Given the description of an element on the screen output the (x, y) to click on. 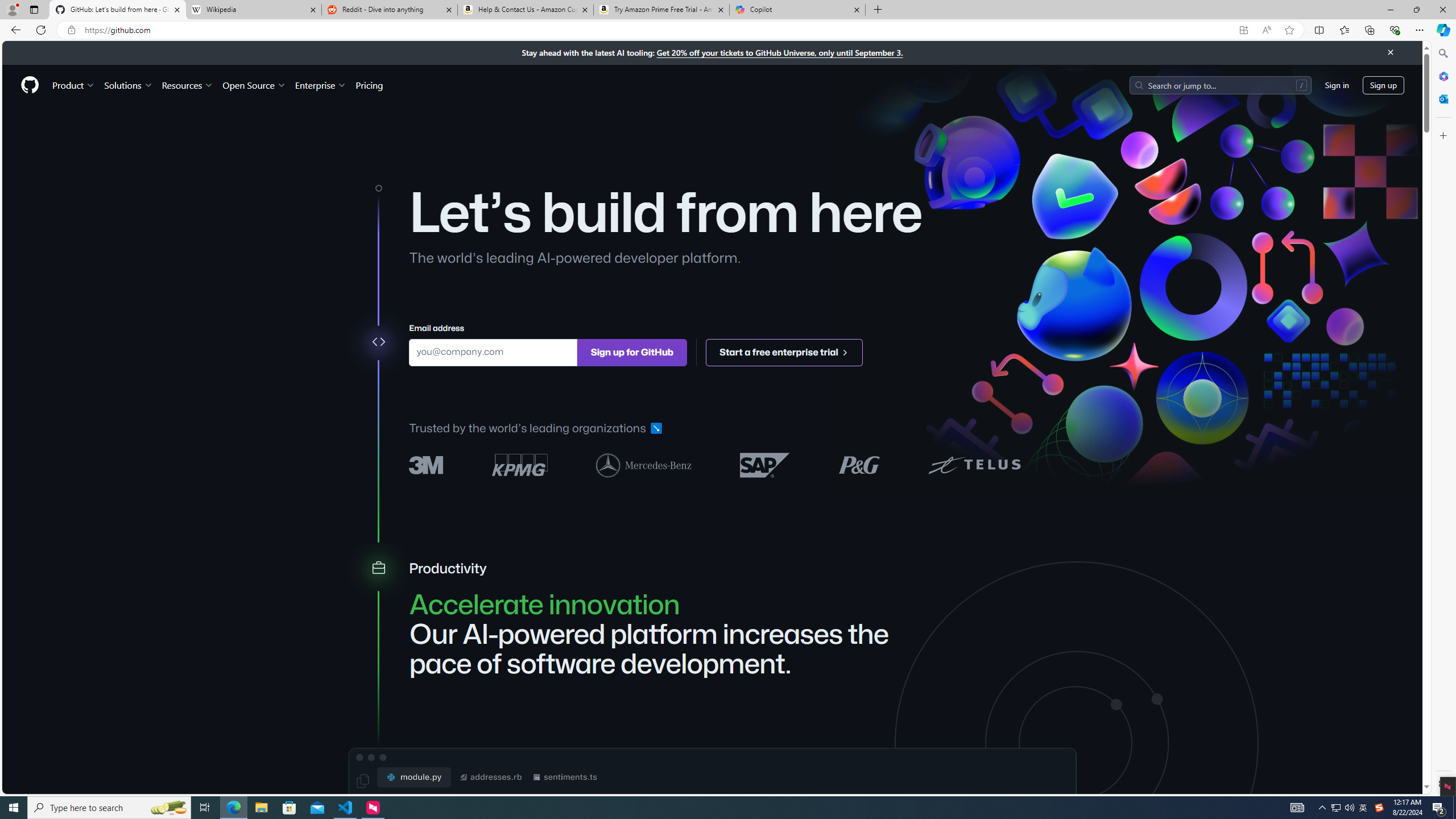
KPMG logo (519, 464)
Enterprise (319, 84)
Try Amazon Prime Free Trial - Amazon Customer Service (660, 9)
Email address (492, 352)
Class: octicon arrow-symbol-mktg (845, 352)
Sign up (1382, 84)
